Given the description of an element on the screen output the (x, y) to click on. 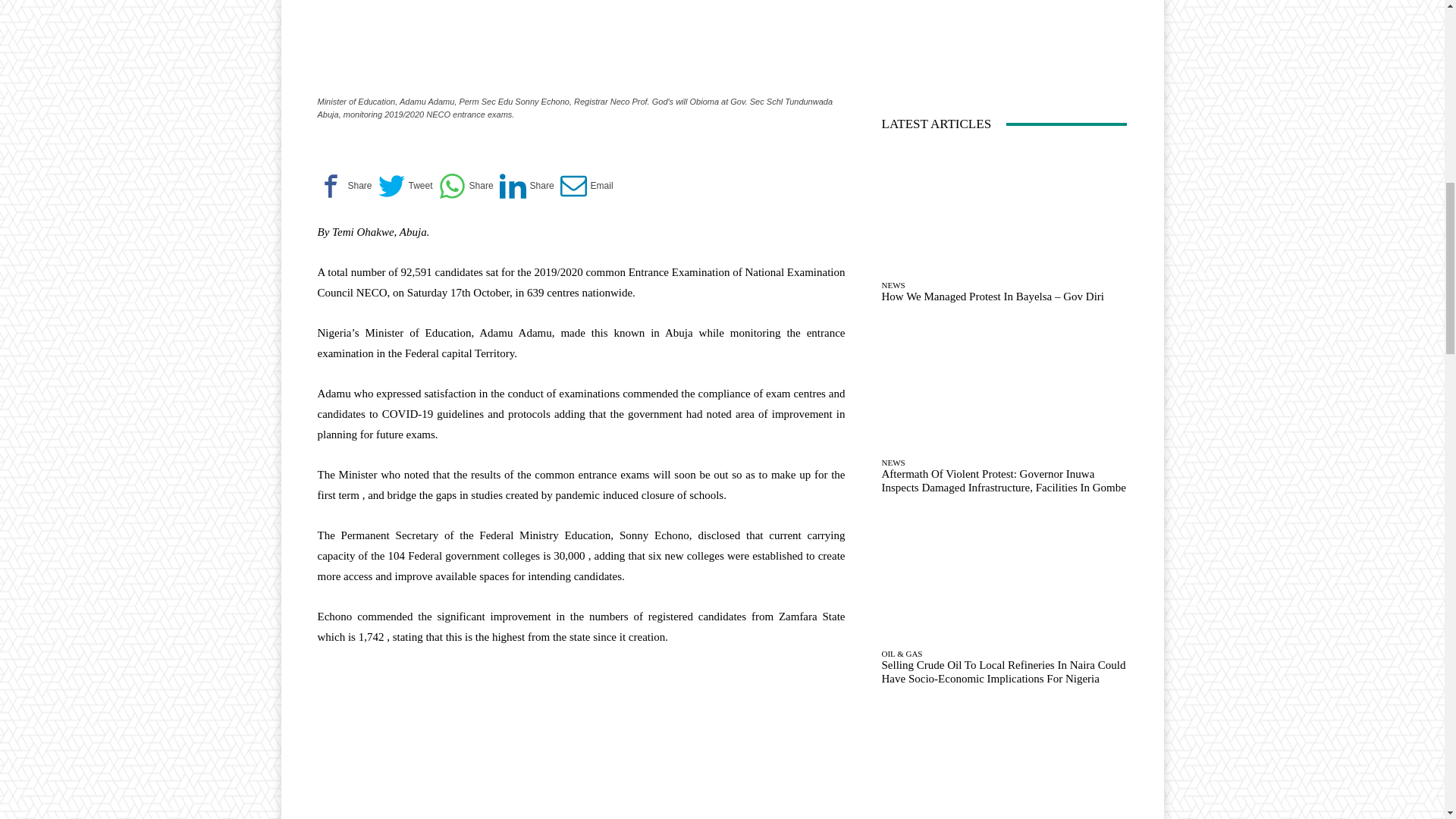
Share on Facebook (344, 185)
Tweet (405, 185)
